Given the description of an element on the screen output the (x, y) to click on. 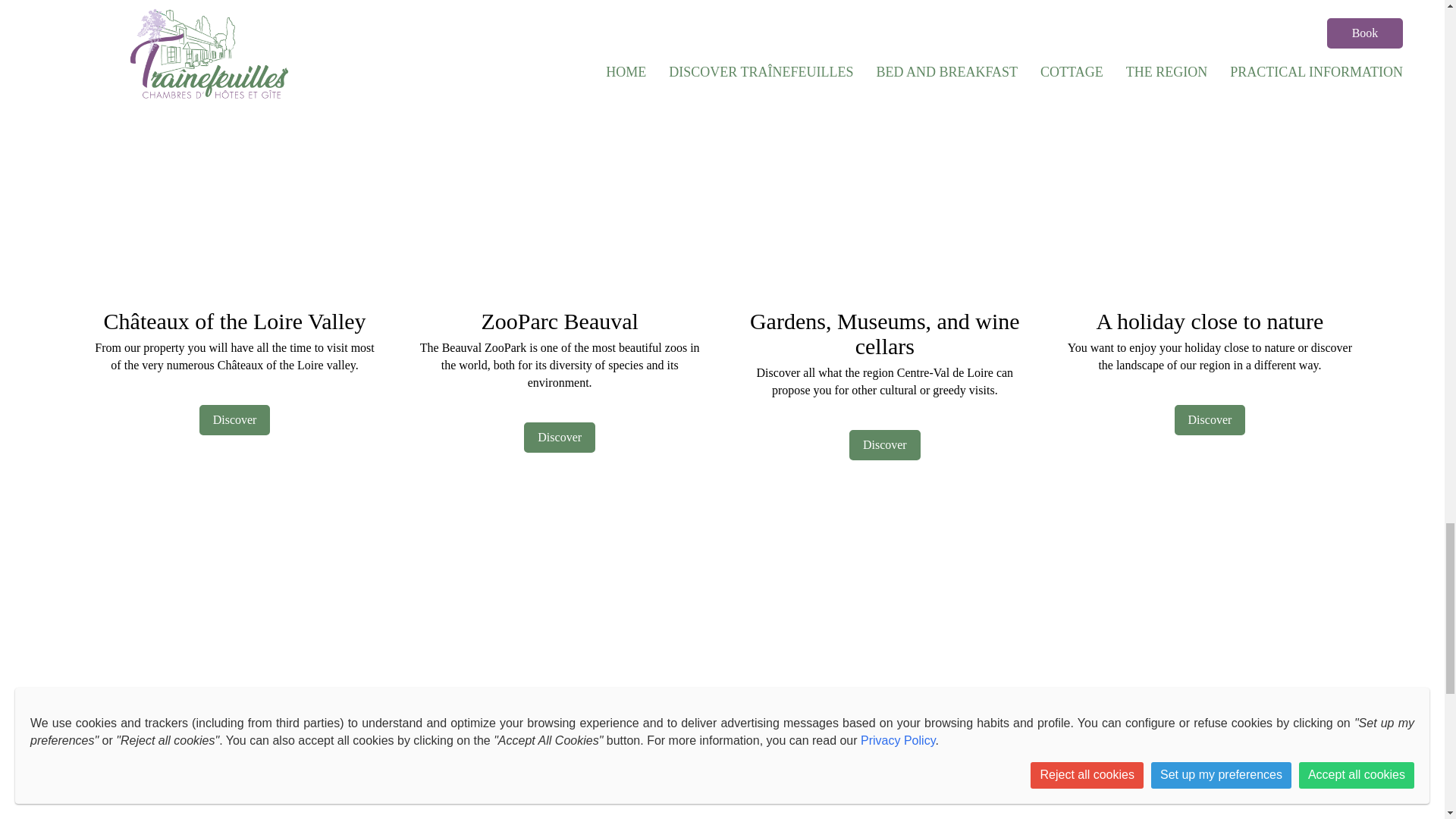
Discover (234, 419)
Discover (559, 437)
Discover (884, 444)
Discover (1210, 419)
